Given the description of an element on the screen output the (x, y) to click on. 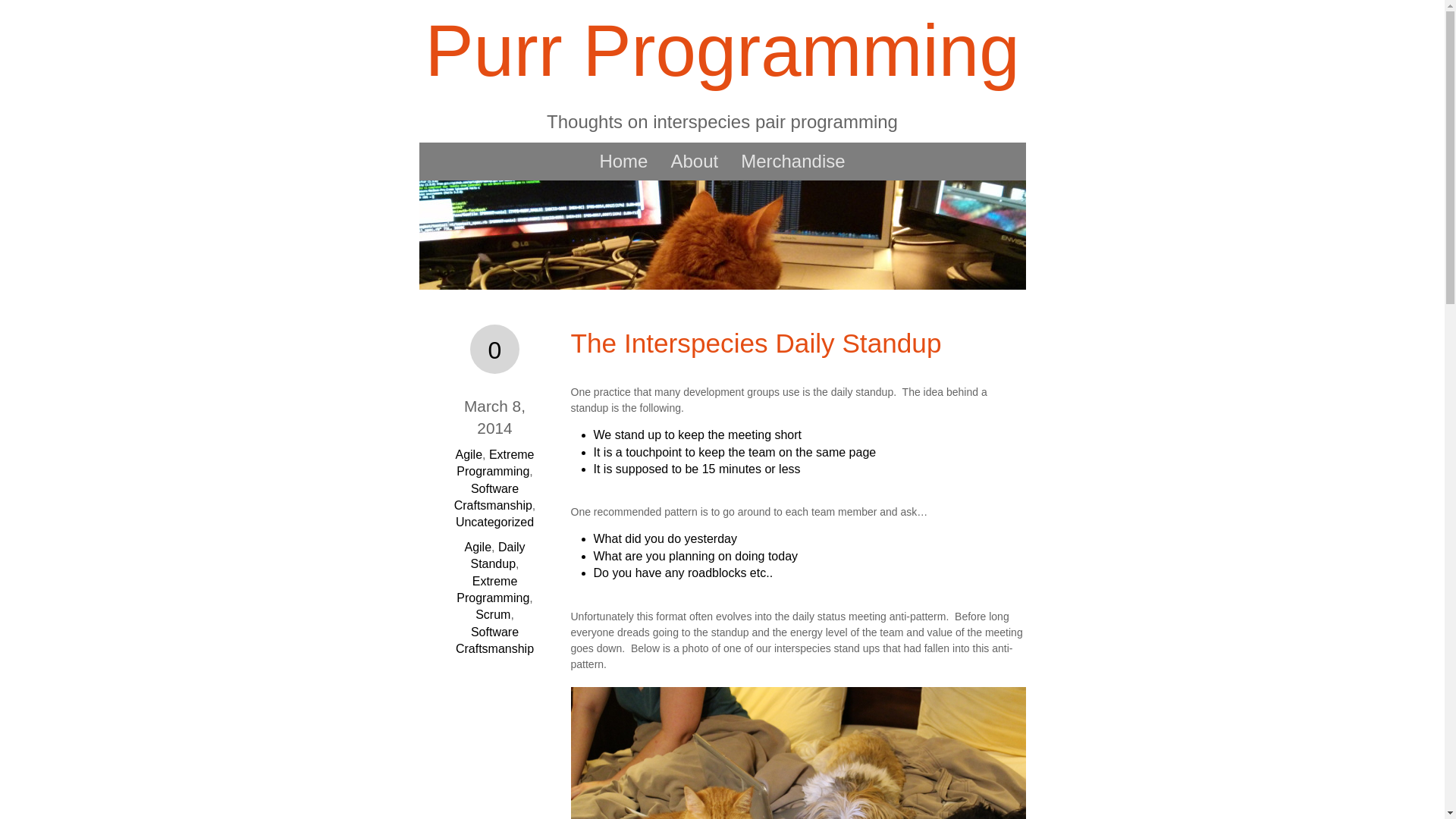
View all posts in Software Craftsmanship (493, 496)
Software Craftsmanship (494, 640)
Extreme Programming (493, 589)
View all posts in Uncategorized (494, 521)
Home (622, 161)
Permalink to The Interspecies Daily Standup (755, 342)
Agile (478, 546)
Uncategorized (494, 521)
View all posts in Extreme Programming (495, 462)
Purr Programming (722, 49)
